Given the description of an element on the screen output the (x, y) to click on. 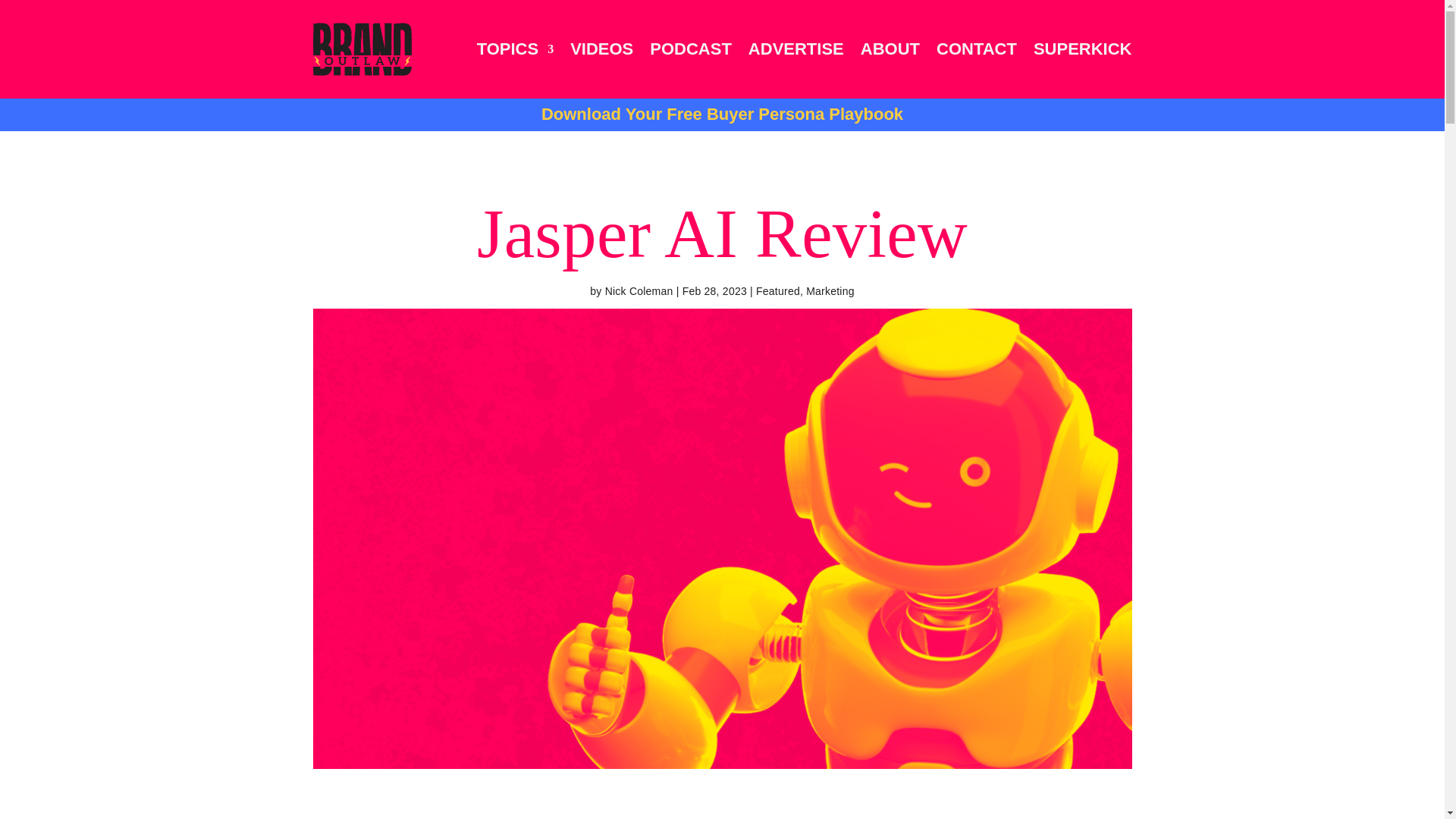
Posts by Nick Coleman (638, 291)
ADVERTISE (796, 48)
TOPICS (515, 48)
VIDEOS (601, 48)
PODCAST (690, 48)
CONTACT (976, 48)
SUPERKICK (1082, 48)
ABOUT (890, 48)
